Given the description of an element on the screen output the (x, y) to click on. 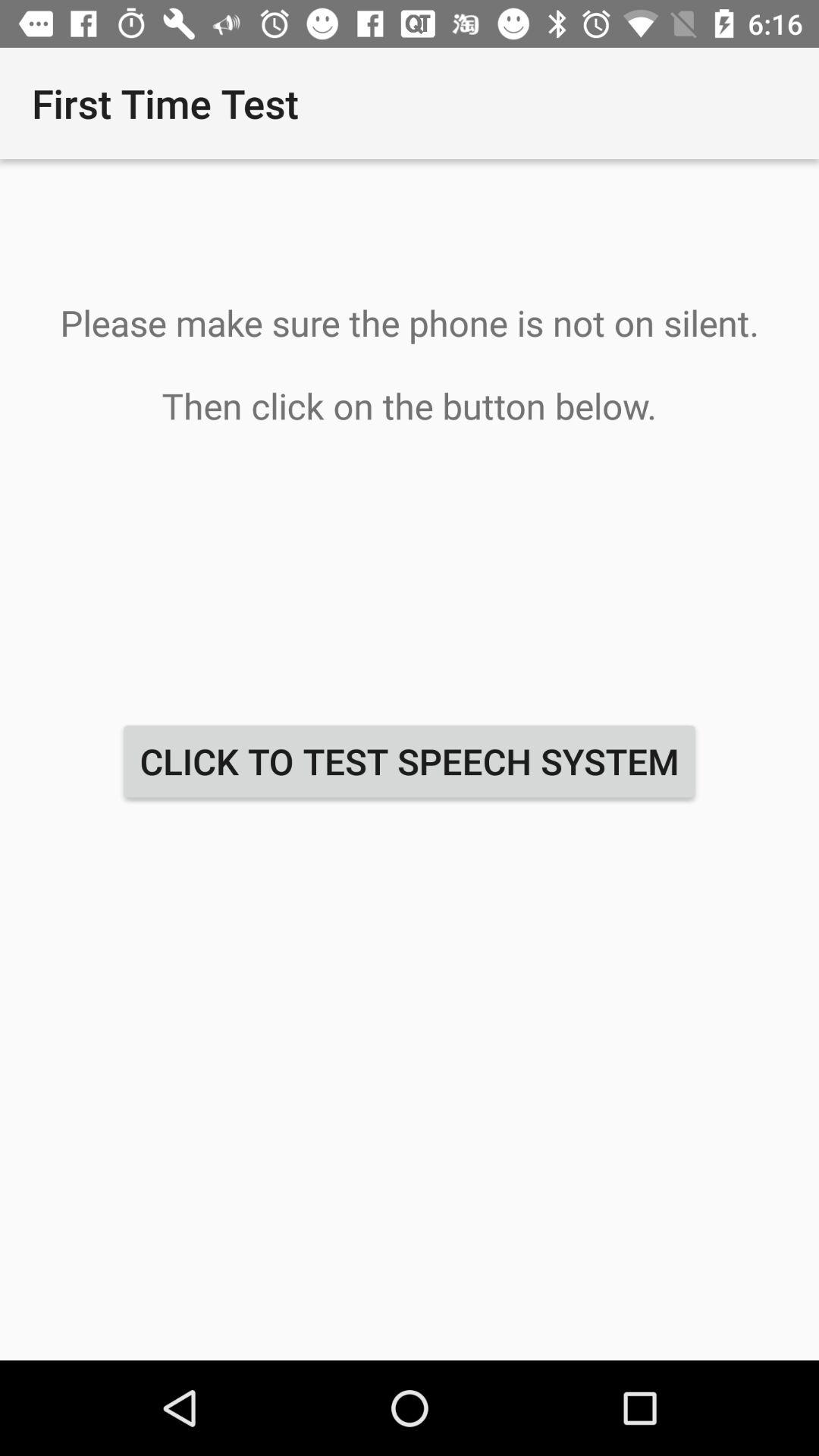
turn off the item below the please make sure icon (409, 761)
